Given the description of an element on the screen output the (x, y) to click on. 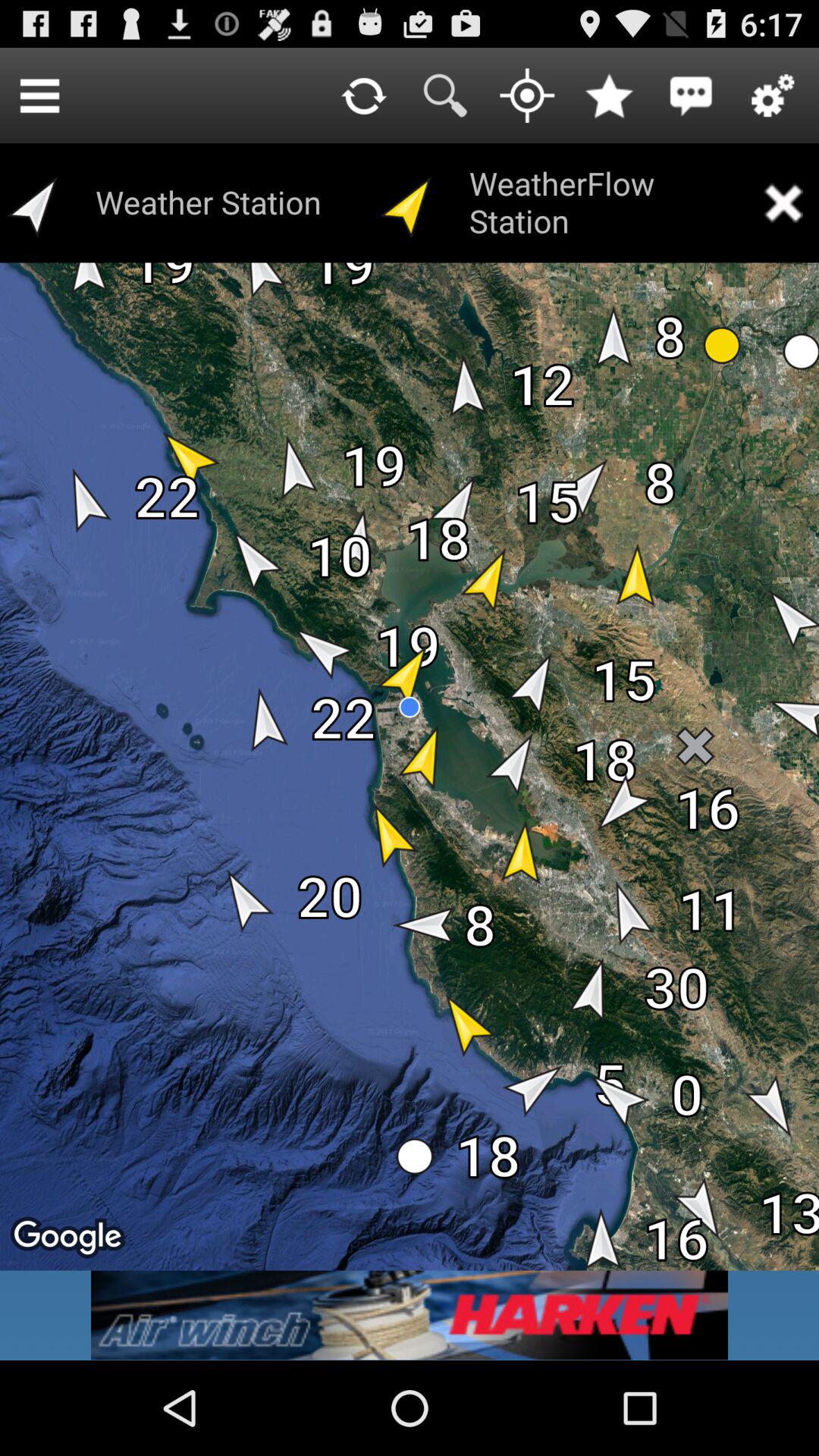
removes the weatherflow station elements for the screen (783, 202)
